Given the description of an element on the screen output the (x, y) to click on. 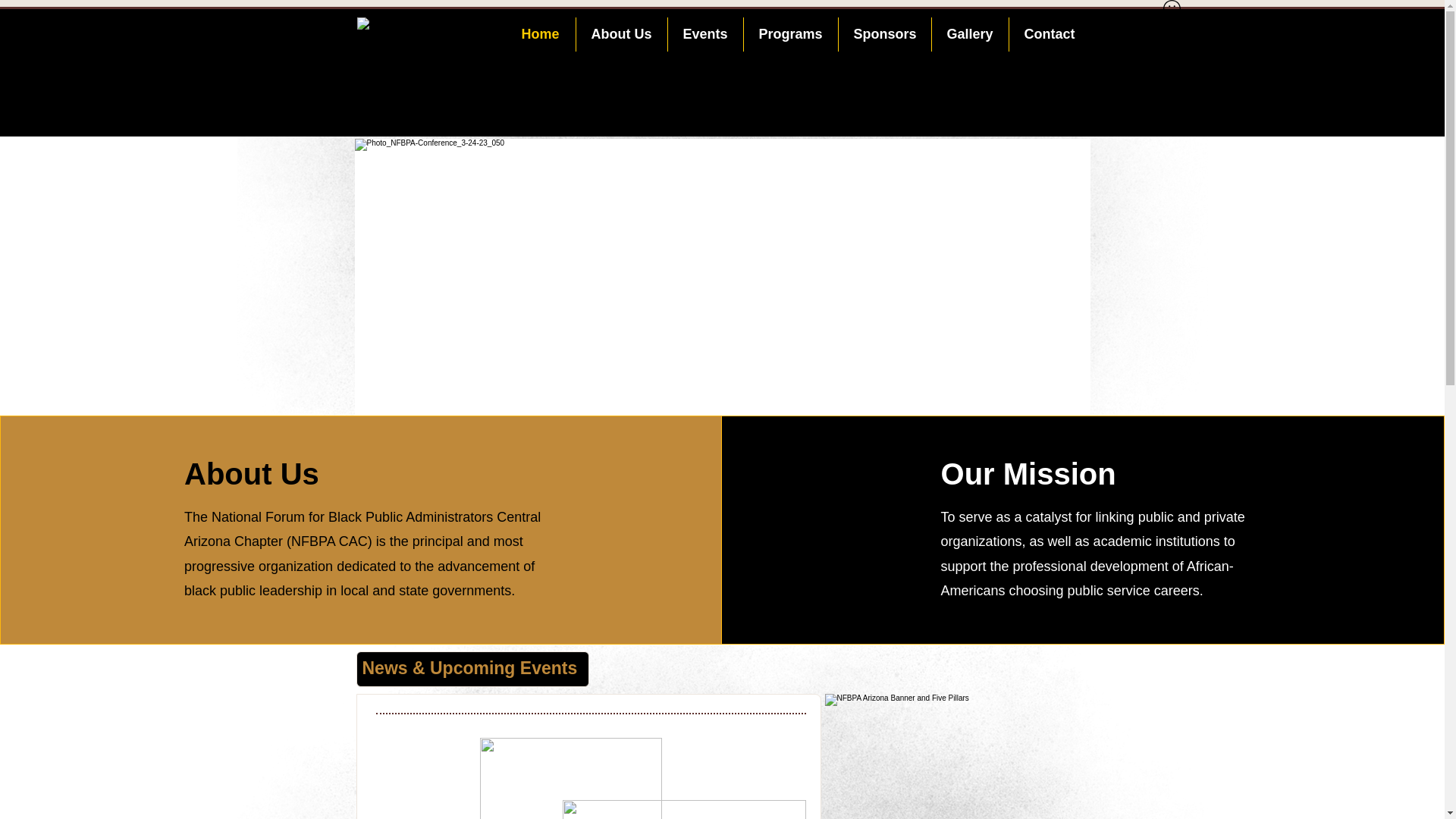
Home (540, 34)
About Us (621, 34)
Programs (789, 34)
Events (704, 34)
Contact (1049, 34)
Sponsors (884, 34)
Gallery (969, 34)
